Given the description of an element on the screen output the (x, y) to click on. 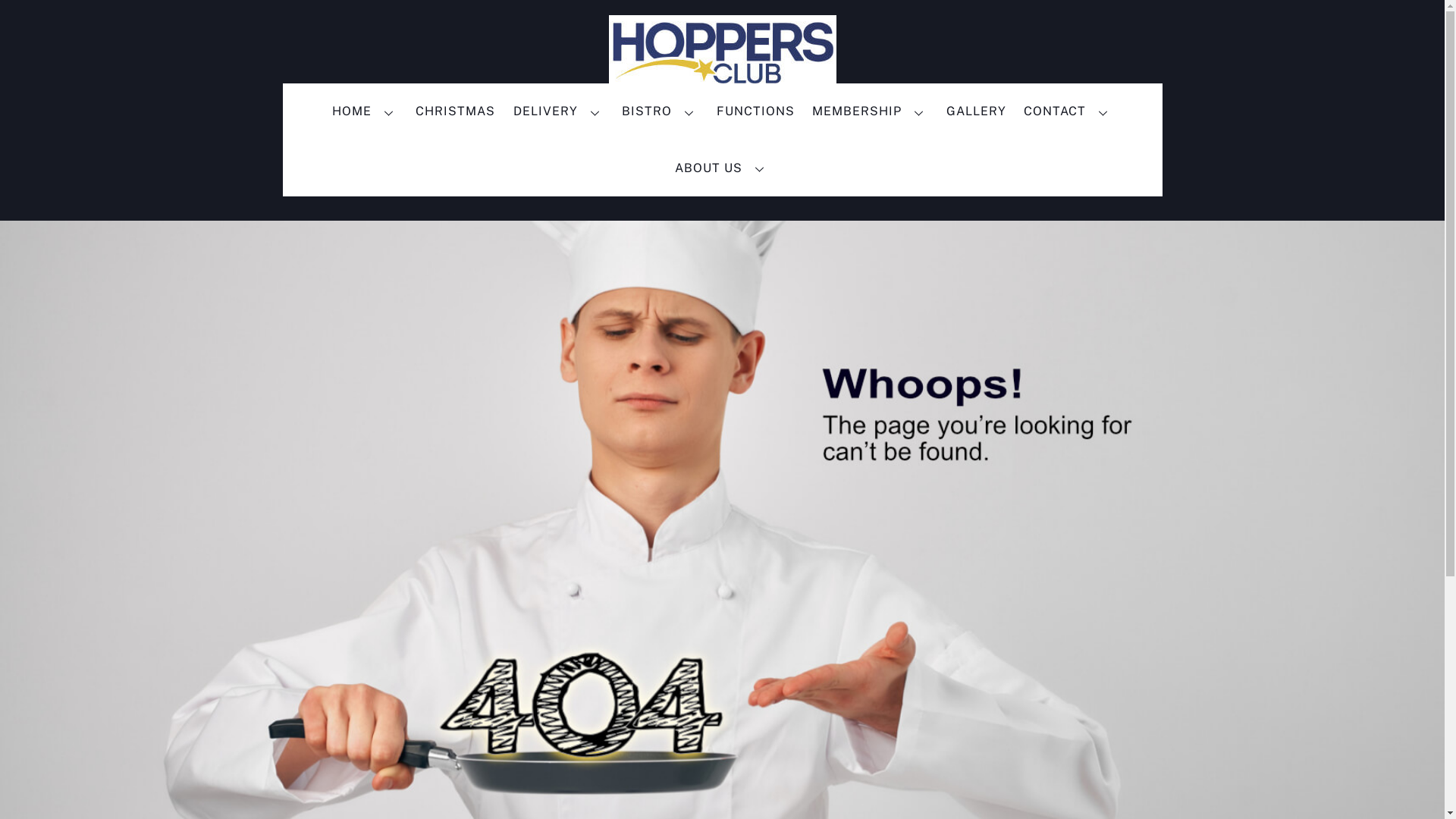
ABOUT US Element type: text (722, 168)
GALLERY Element type: text (975, 111)
CHRISTMAS Element type: text (455, 111)
FUNCTIONS Element type: text (755, 111)
Hoppers Club Element type: hover (721, 53)
HOME Element type: text (364, 111)
CONTACT Element type: text (1068, 111)
DELIVERY Element type: text (558, 111)
BISTRO Element type: text (660, 111)
Hoppers Club Element type: hover (721, 83)
MEMBERSHIP Element type: text (869, 111)
